Given the description of an element on the screen output the (x, y) to click on. 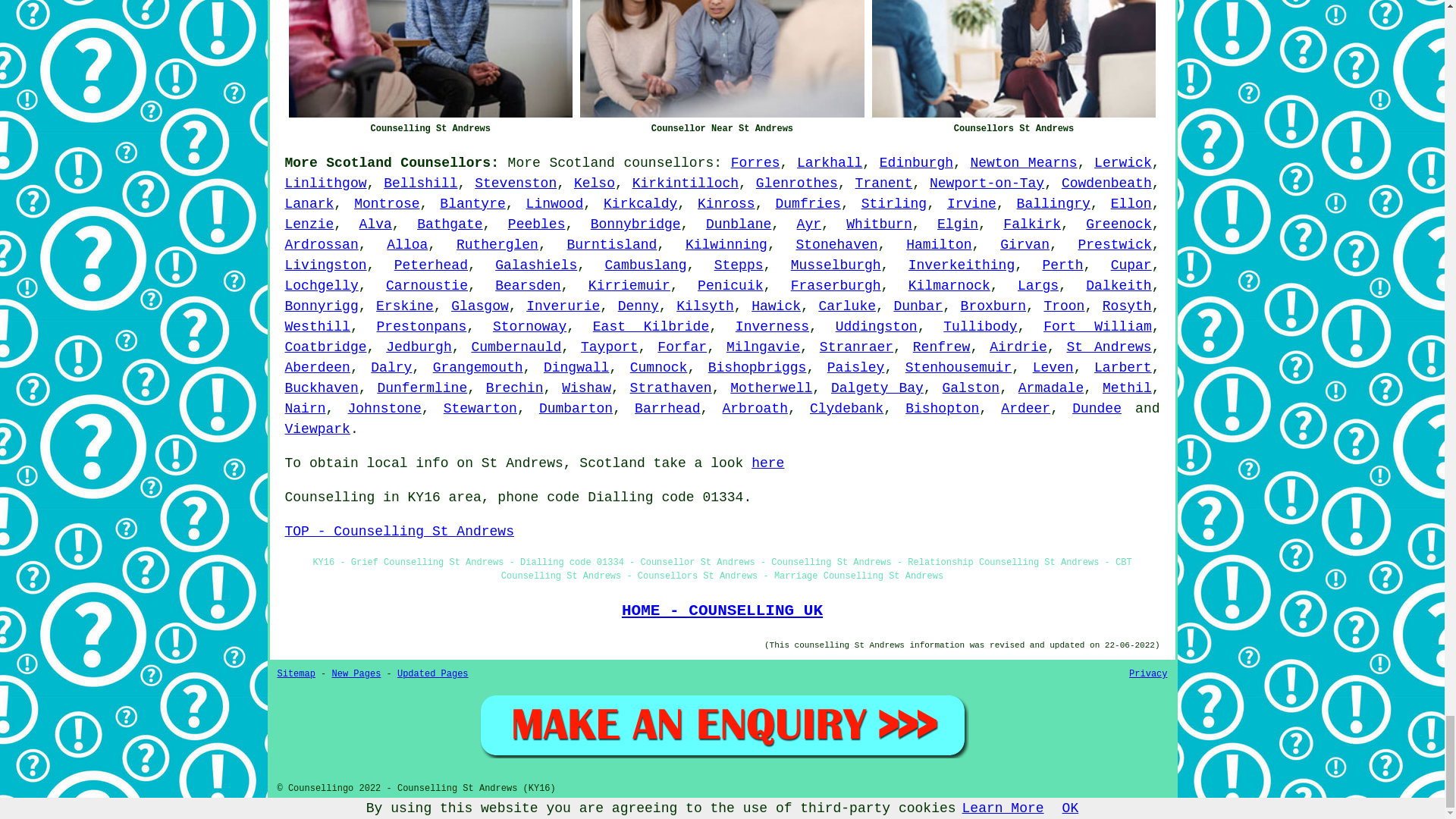
Counsellor Near Me St Andrews (721, 58)
ENQUIRE ABOUT COUNSELLING ST ANDREWS (722, 725)
Counselling St Andrews (430, 58)
Counsellors St Andrews UK (1014, 58)
